Given the description of an element on the screen output the (x, y) to click on. 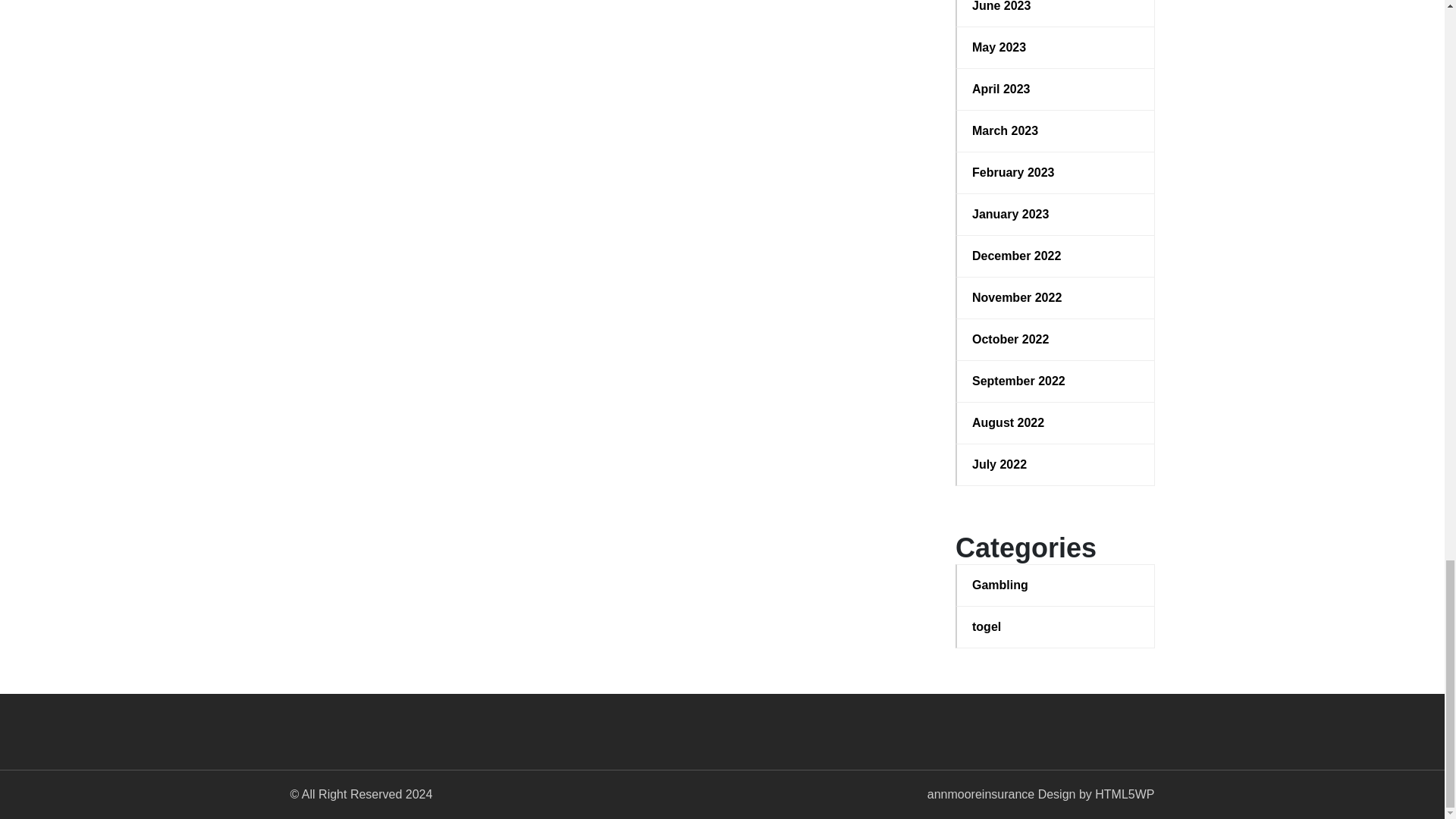
December 2022 (1055, 256)
March 2023 (1055, 131)
January 2023 (1055, 214)
May 2023 (1055, 47)
November 2022 (1055, 298)
June 2023 (1055, 7)
February 2023 (1055, 172)
April 2023 (1055, 89)
